Given the description of an element on the screen output the (x, y) to click on. 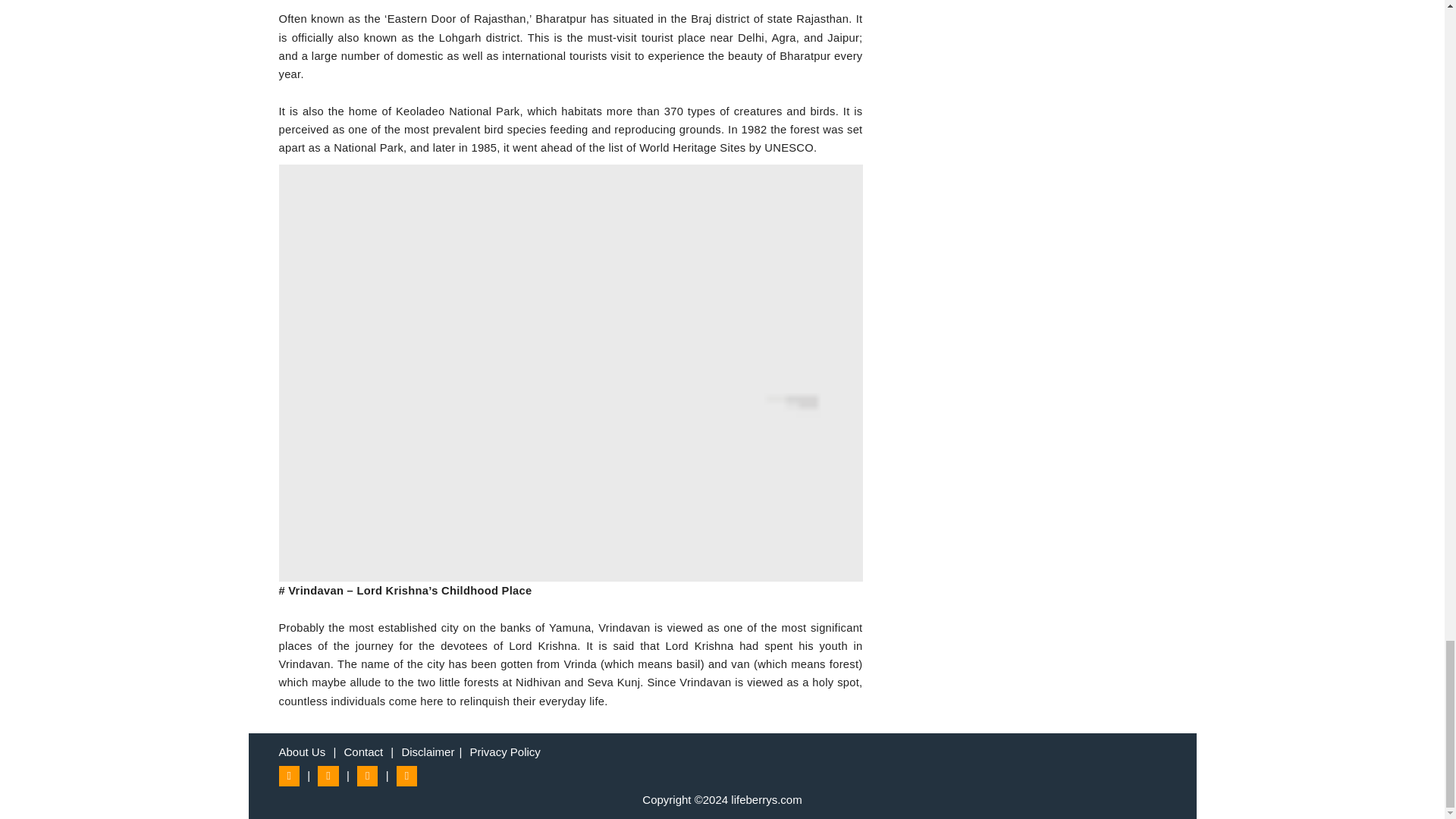
Disclaimer (427, 751)
Privacy Policy (505, 751)
About Us (302, 751)
Contact (362, 751)
